Given the description of an element on the screen output the (x, y) to click on. 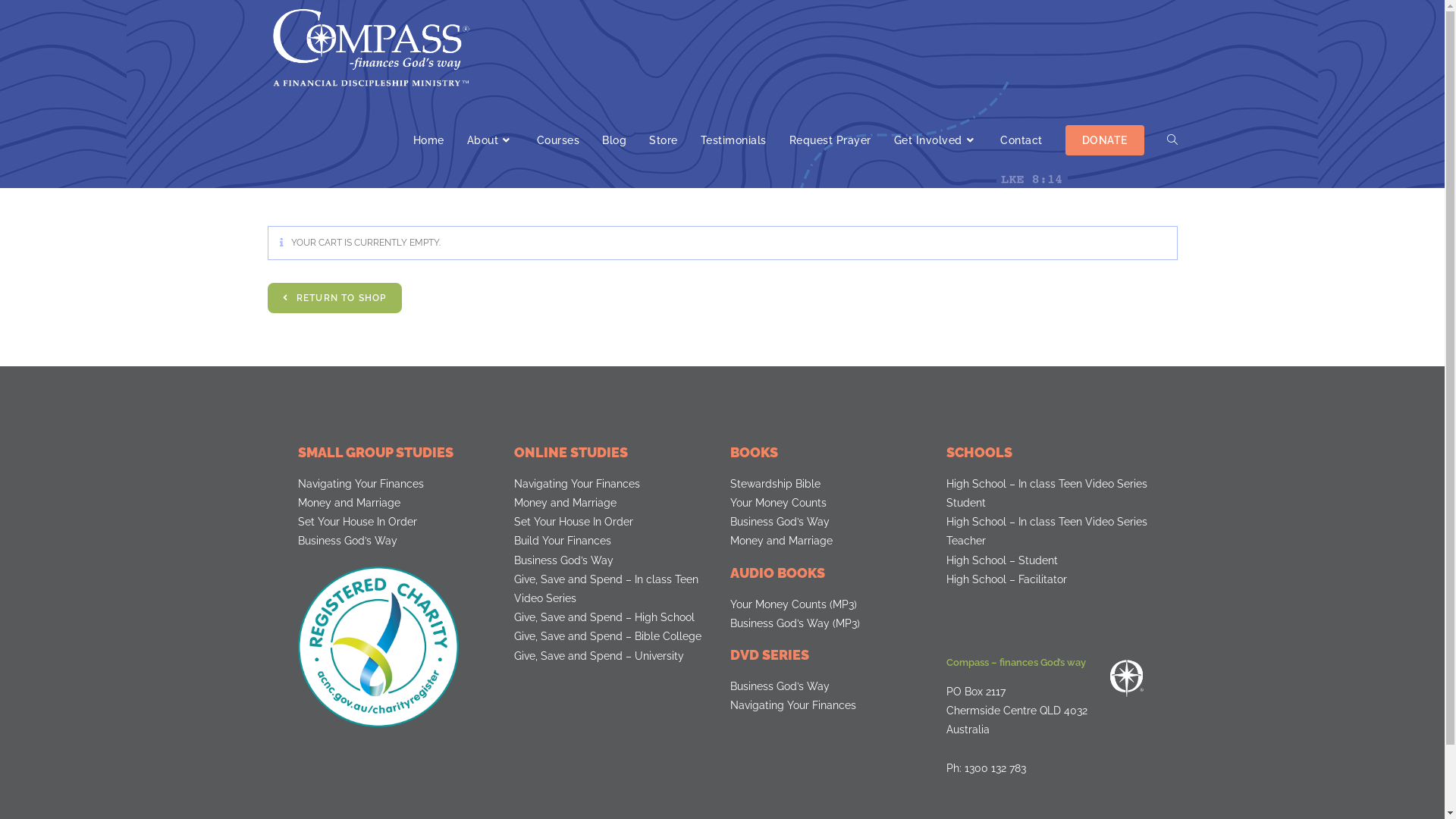
DONATE Element type: text (1104, 139)
Money and Marriage Element type: text (829, 540)
Set Your House In Order Element type: text (397, 521)
Your Money Counts Element type: text (829, 502)
About Element type: text (489, 139)
Request Prayer Element type: text (830, 139)
Blog Element type: text (613, 139)
Store Element type: text (663, 139)
Money and Marriage Element type: text (614, 502)
Home Element type: text (428, 139)
Your Money Counts (MP3) Element type: text (829, 604)
Build Your Finances Element type: text (614, 540)
Money and Marriage Element type: text (397, 502)
Navigating Your Finances Element type: text (397, 483)
Get Involved Element type: text (935, 139)
Contact Element type: text (1021, 139)
Stewardship Bible Element type: text (829, 483)
Courses Element type: text (557, 139)
Navigating Your Finances Element type: text (614, 483)
RETURN TO SHOP Element type: text (333, 297)
Set Your House In Order Element type: text (614, 521)
Navigating Your Finances Element type: text (829, 705)
Testimonials Element type: text (732, 139)
